Given the description of an element on the screen output the (x, y) to click on. 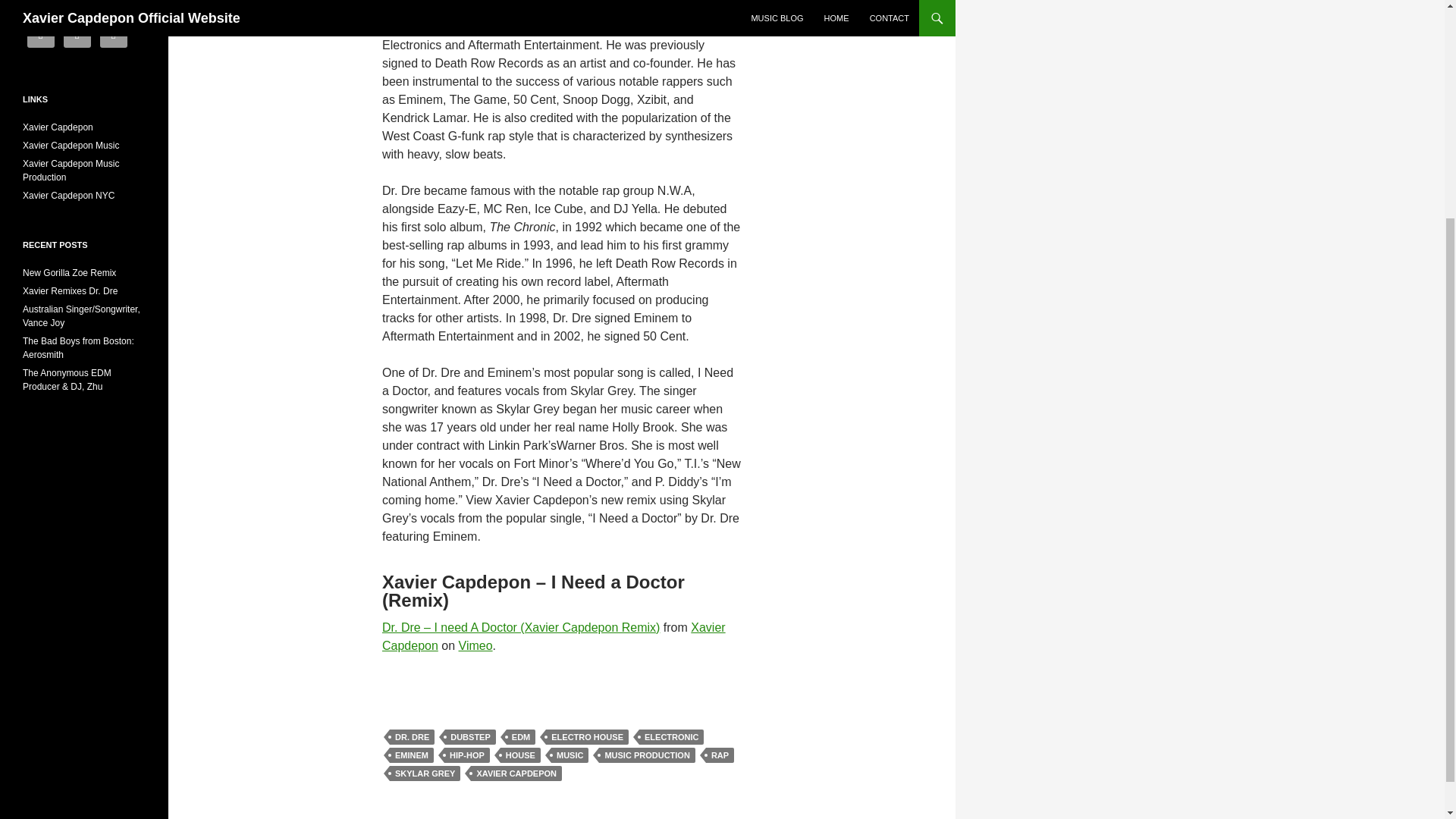
DR. DRE (411, 736)
Xavier Capdepon Music Website (71, 145)
XAVIER CAPDEPON (516, 773)
ELECTRONIC (671, 736)
RAP (719, 754)
HIP-HOP (466, 754)
EDM (520, 736)
MUSIC (569, 754)
MUSIC PRODUCTION (646, 754)
Xavier Capdepon in New York City (69, 195)
